Given the description of an element on the screen output the (x, y) to click on. 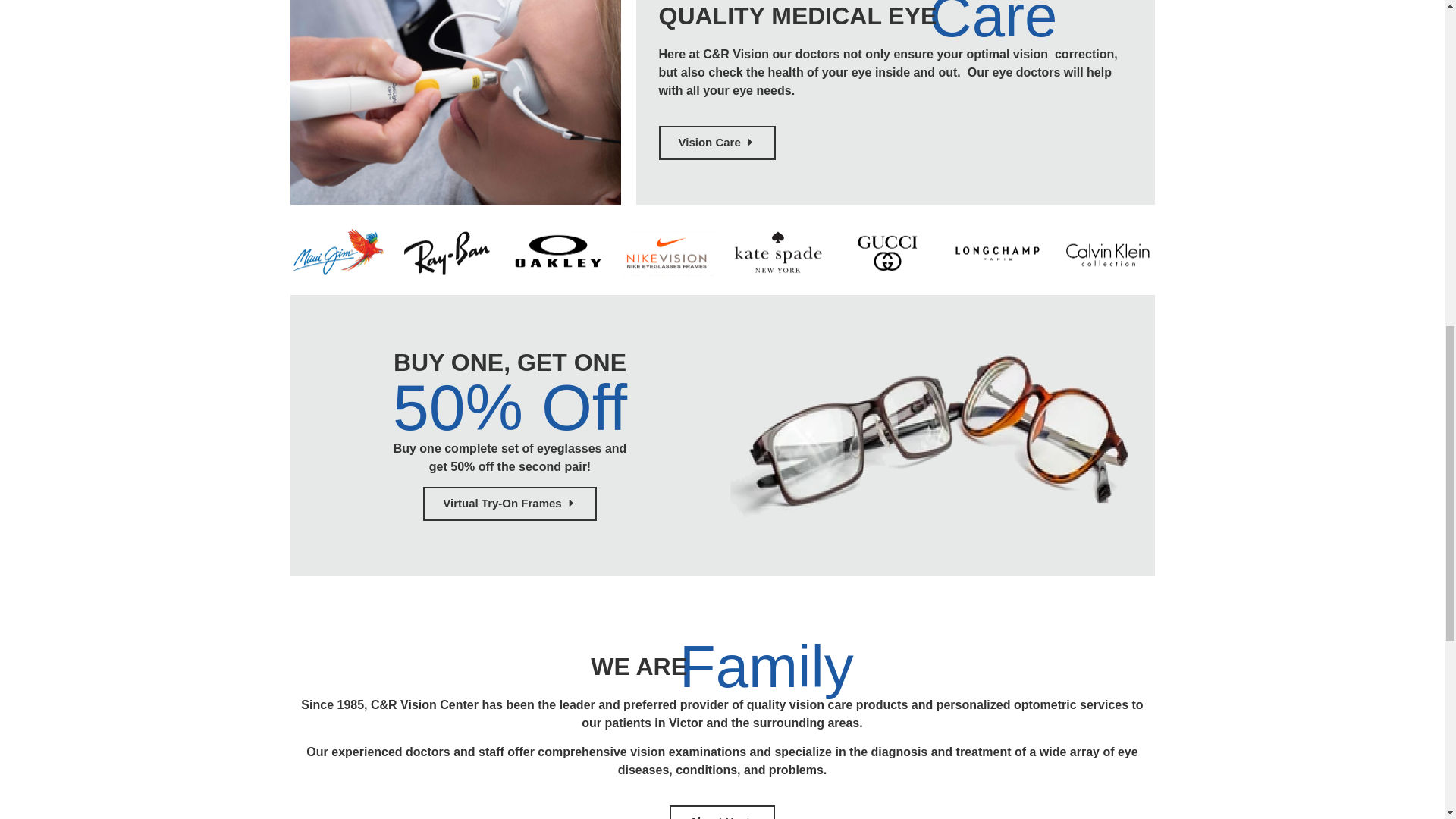
Virtual Try-On Frames (509, 503)
Vision Care (716, 142)
About Us (721, 812)
